Given the description of an element on the screen output the (x, y) to click on. 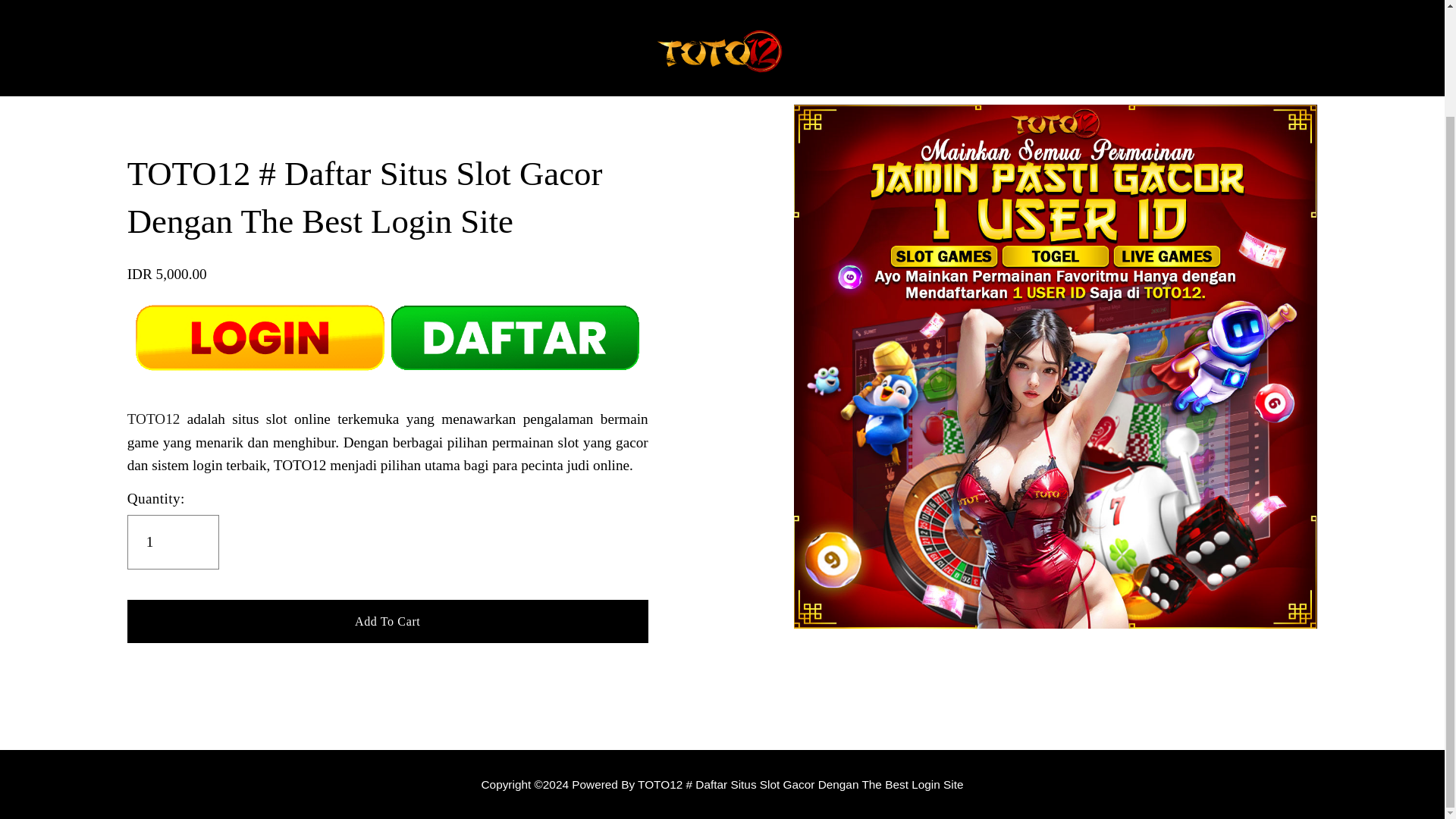
1 (173, 542)
Add To Cart (387, 620)
Toto12 (721, 784)
TOTO12 (154, 418)
LOGIN (361, 7)
